Given the description of an element on the screen output the (x, y) to click on. 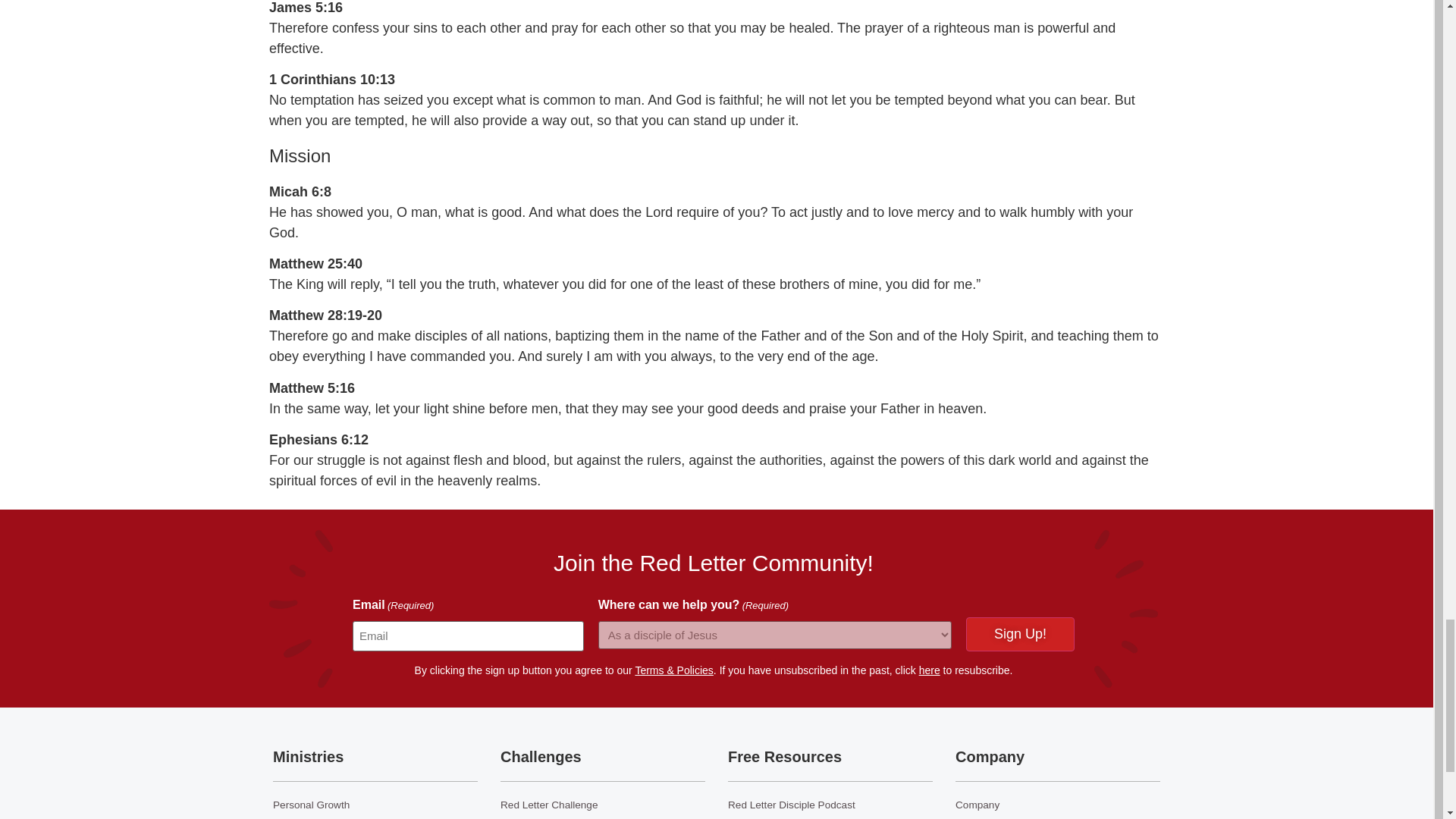
Sign Up! (1020, 634)
